Given the description of an element on the screen output the (x, y) to click on. 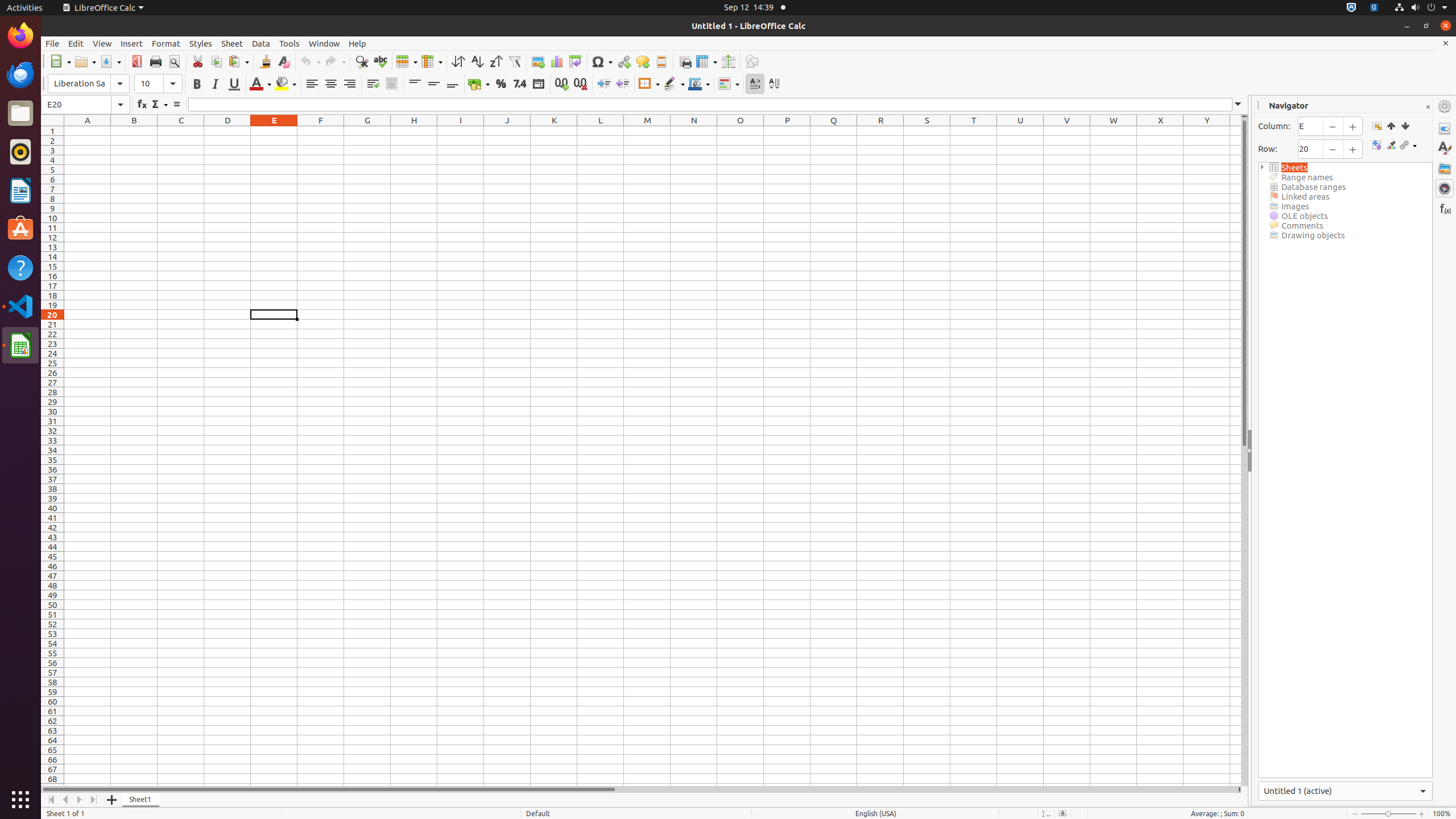
X1 Element type: table-cell (1159, 130)
Decrease Element type: push-button (622, 83)
Redo Element type: push-button (334, 61)
LibreOffice Writer Element type: push-button (20, 190)
Clear Element type: push-button (283, 61)
